Given the description of an element on the screen output the (x, y) to click on. 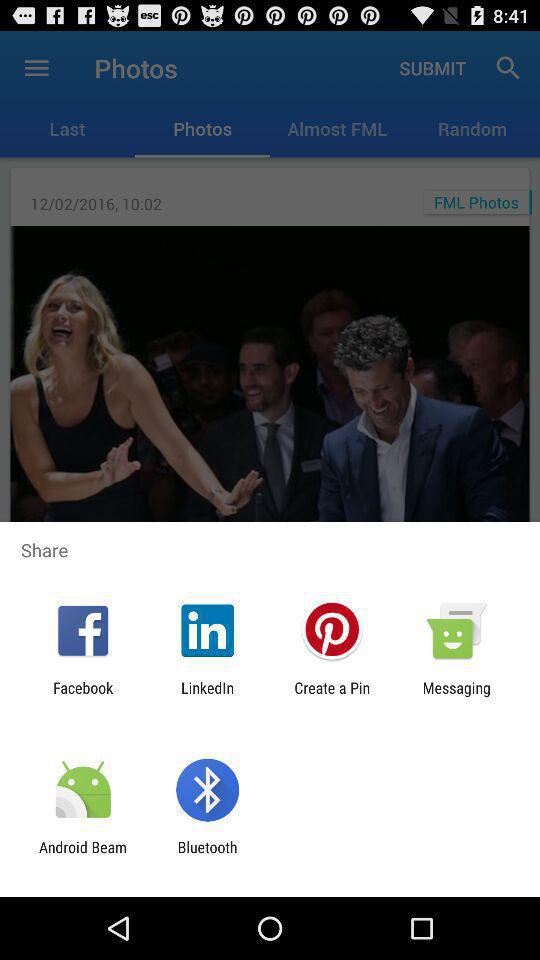
launch the icon to the left of the create a pin app (207, 696)
